Given the description of an element on the screen output the (x, y) to click on. 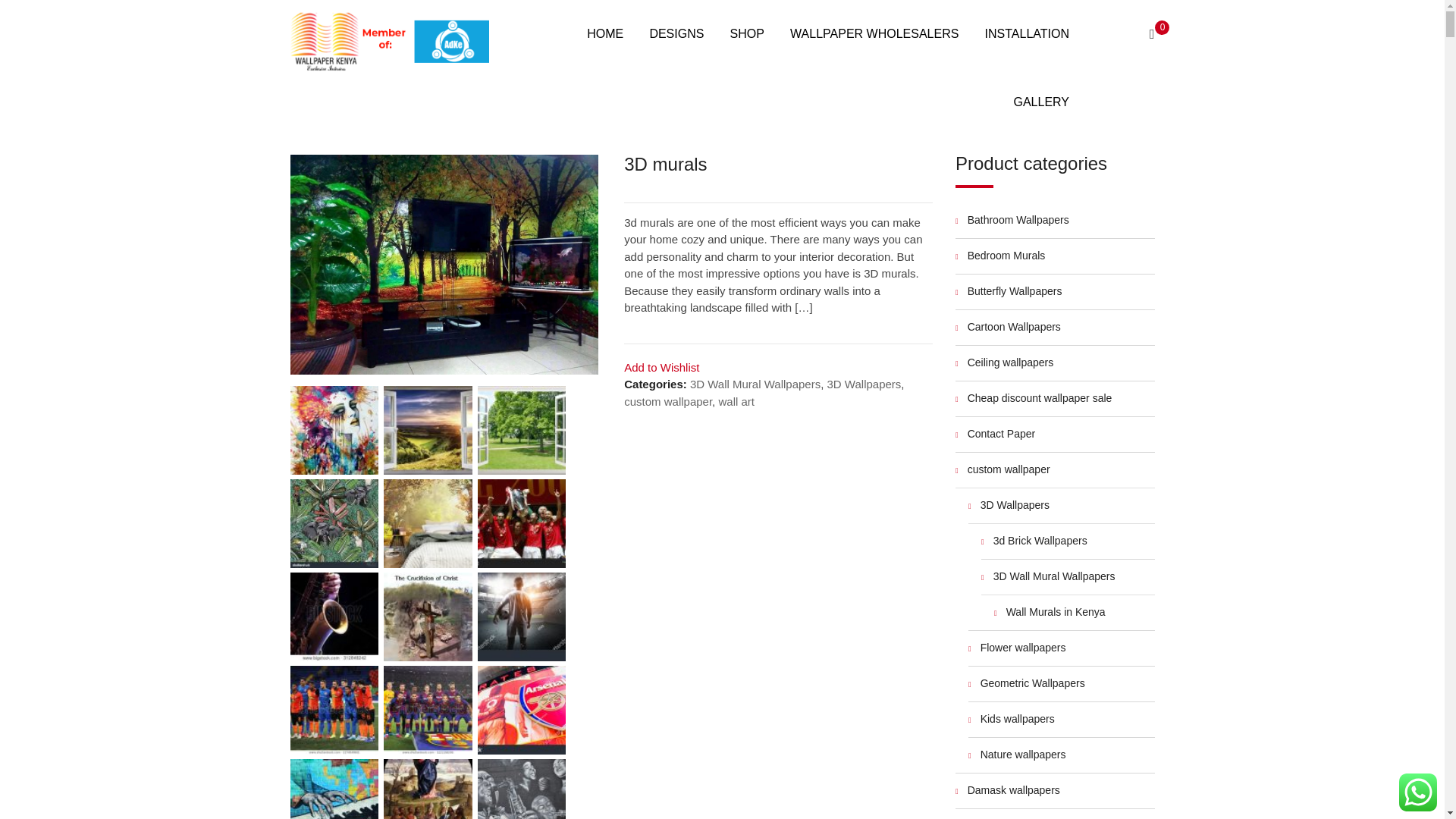
Large Graffiti jazz music wall art (333, 789)
INSTALLATION (1027, 33)
WALLPAPER WHOLESALERS (873, 33)
DESIGNS (675, 33)
Basketball court mural of a player in the stadium (521, 616)
Music music room wallpaper mural (521, 789)
GALLERY (1040, 101)
window wall mural (521, 430)
Manchester United Wall Mural Bigstock (521, 523)
Elephant mural (333, 523)
Luxury mural wallpaper (427, 523)
3d Forest Wall Mural (443, 264)
Teamwork, basketball mural (333, 709)
spain-barcelona-october-2-2019-600w-1521106295 (427, 709)
Bigstock Jazz 312848242 (333, 616)
